Given the description of an element on the screen output the (x, y) to click on. 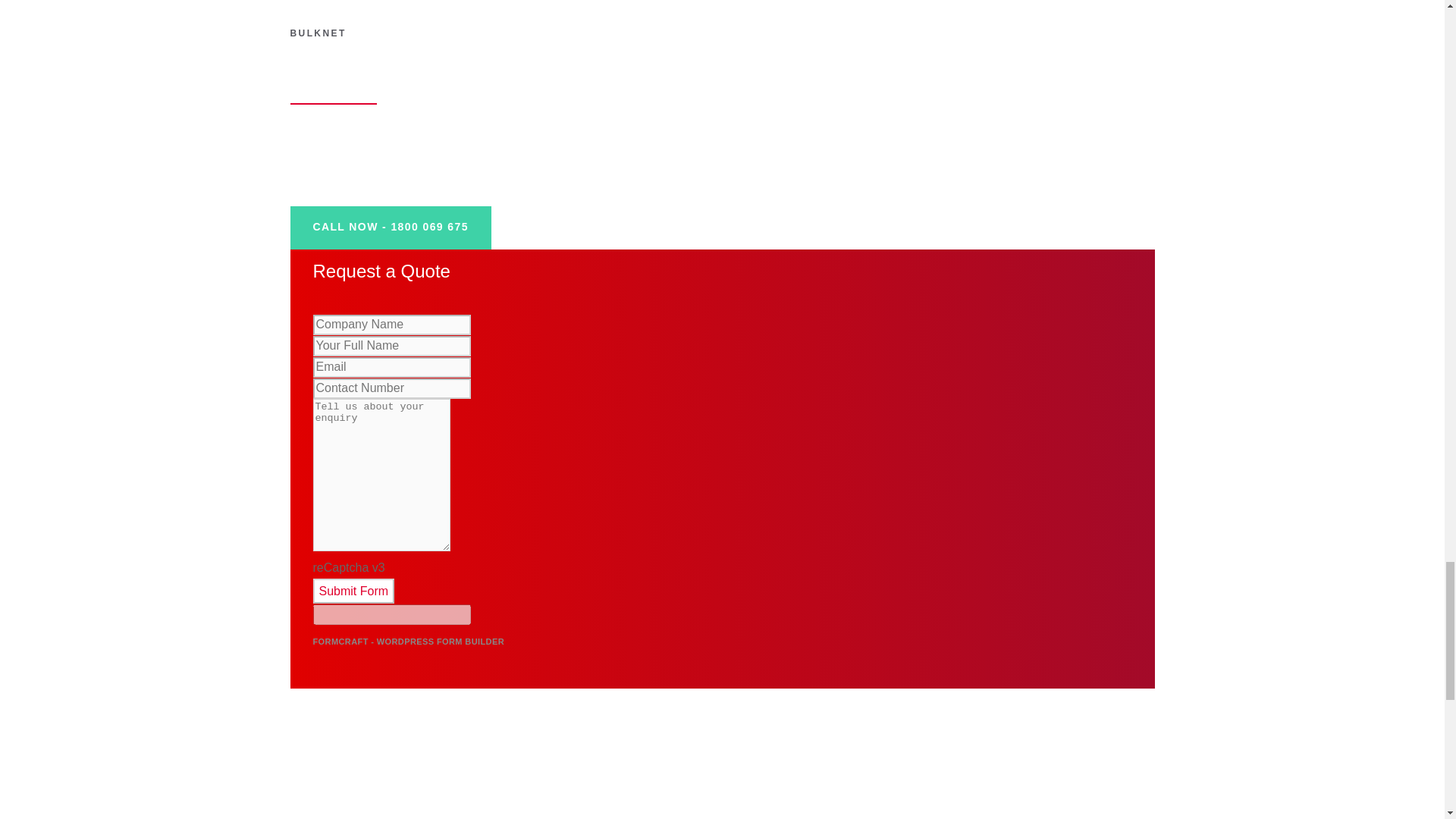
Bulknet - BN (433, 812)
